Given the description of an element on the screen output the (x, y) to click on. 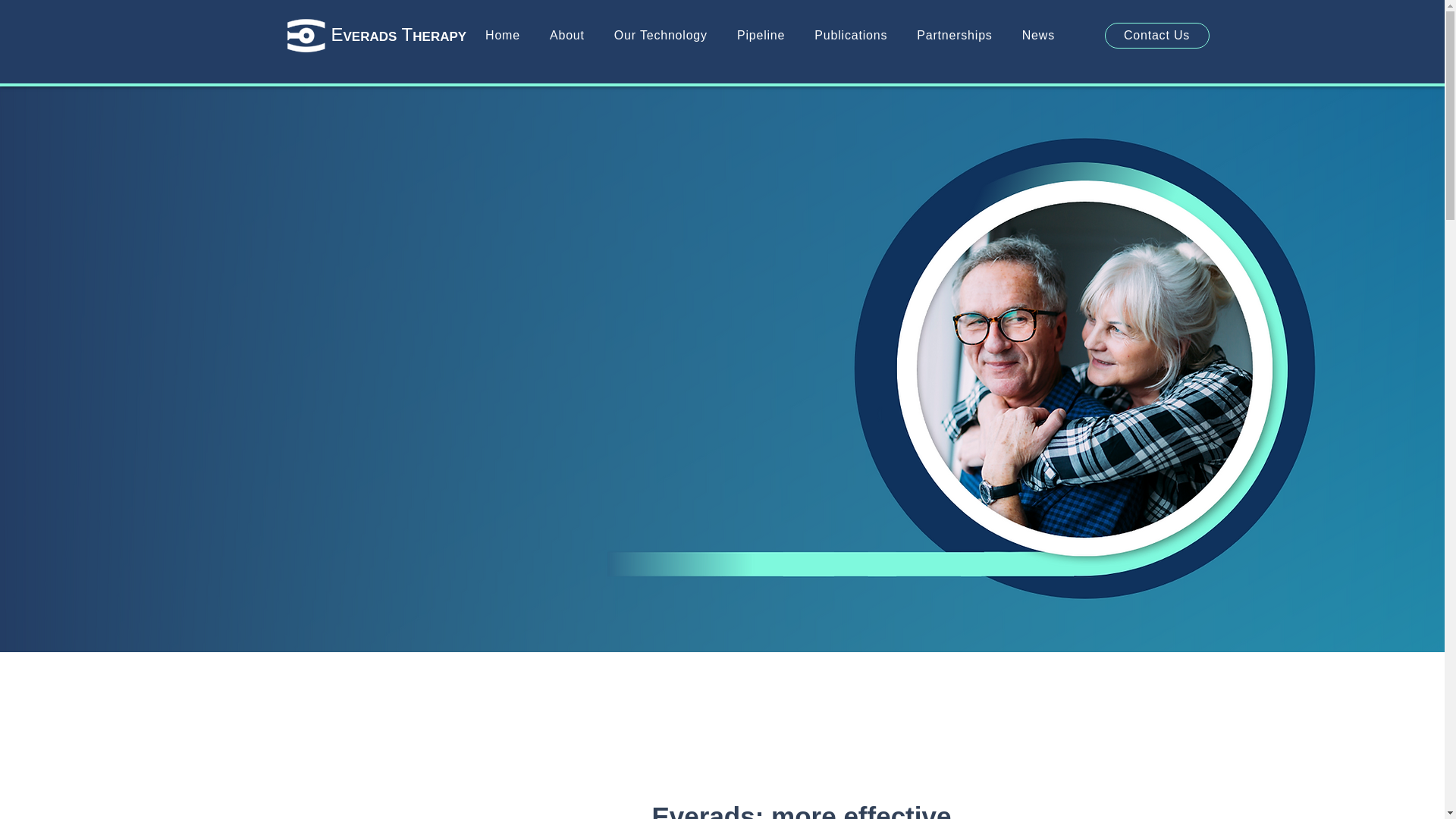
Our Technology (660, 34)
Partnerships (954, 34)
Contact Us (1155, 35)
EVERADS THERAPY (397, 34)
News (1037, 34)
Home (502, 34)
Pipeline (759, 34)
About (567, 34)
Publications (850, 34)
